Given the description of an element on the screen output the (x, y) to click on. 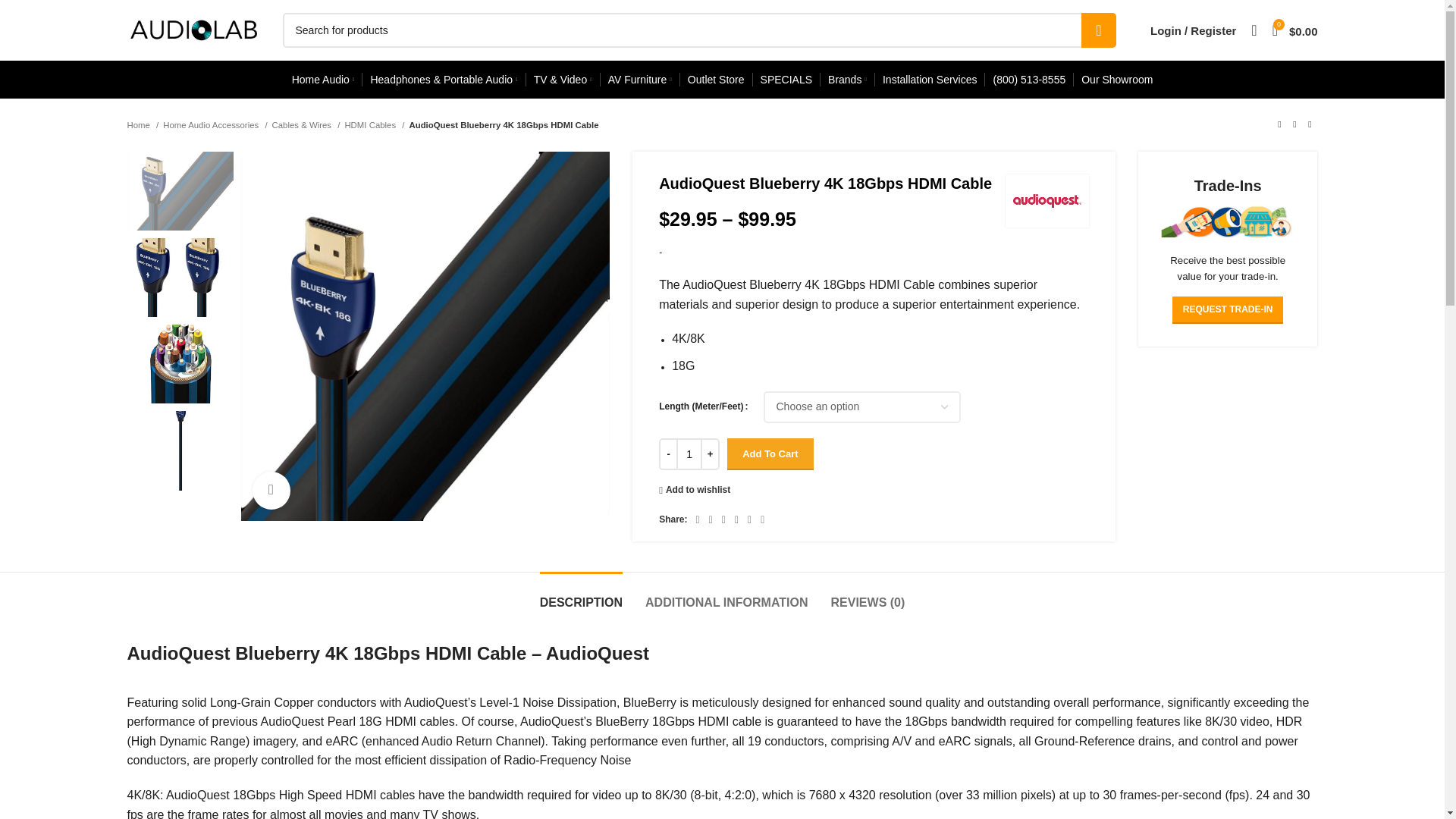
Home Audio (323, 79)
My account (1192, 30)
SEARCH (1098, 30)
Search for products (698, 30)
Shopping cart (1294, 30)
